Given the description of an element on the screen output the (x, y) to click on. 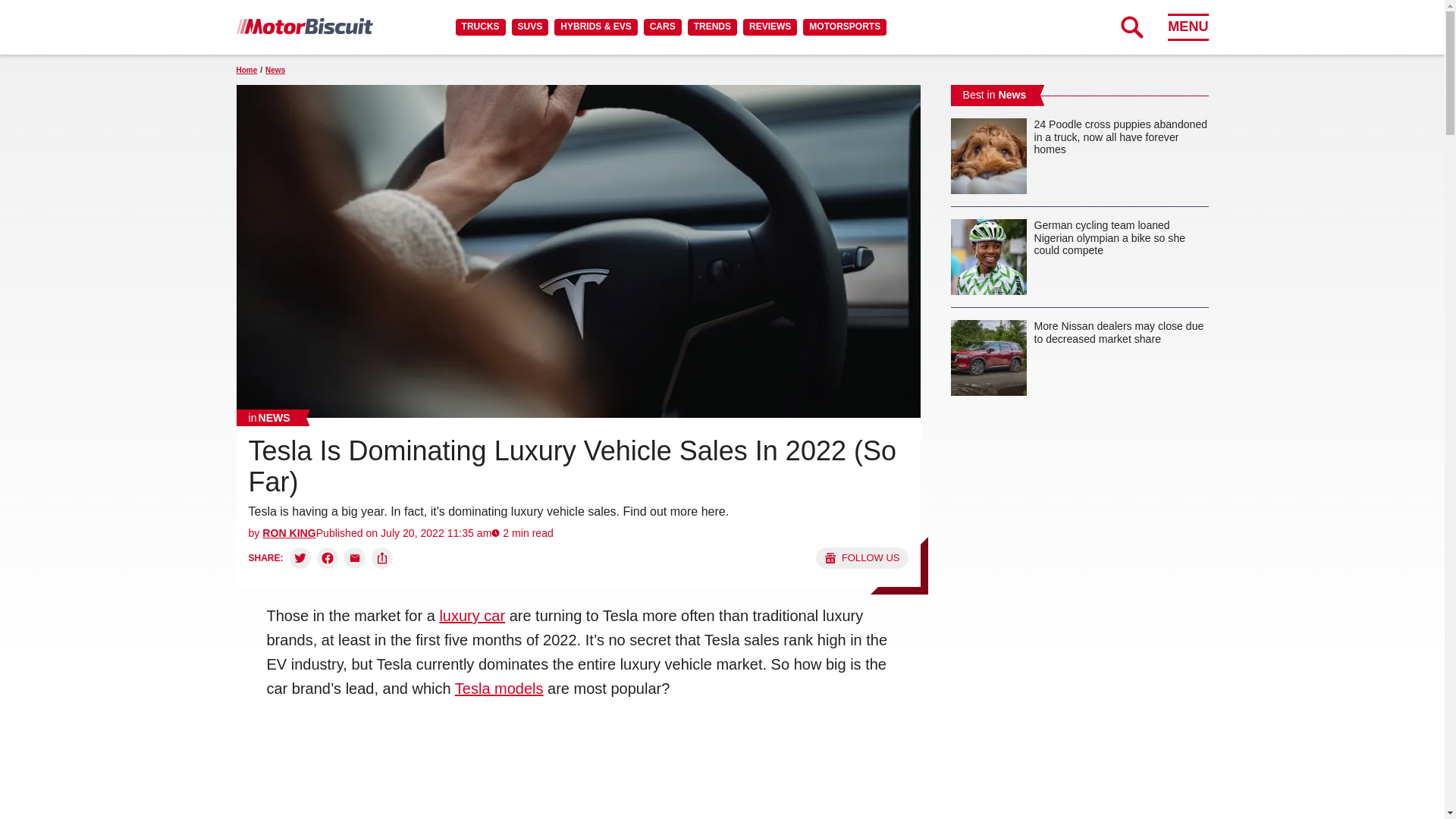
REVIEWS (769, 26)
News (268, 417)
MotorBiscuit (303, 26)
TRENDS (711, 26)
TRUCKS (480, 26)
MENU (1187, 26)
MOTORSPORTS (844, 26)
Copy link and share:  (382, 557)
Follow us on Google News (861, 557)
